Given the description of an element on the screen output the (x, y) to click on. 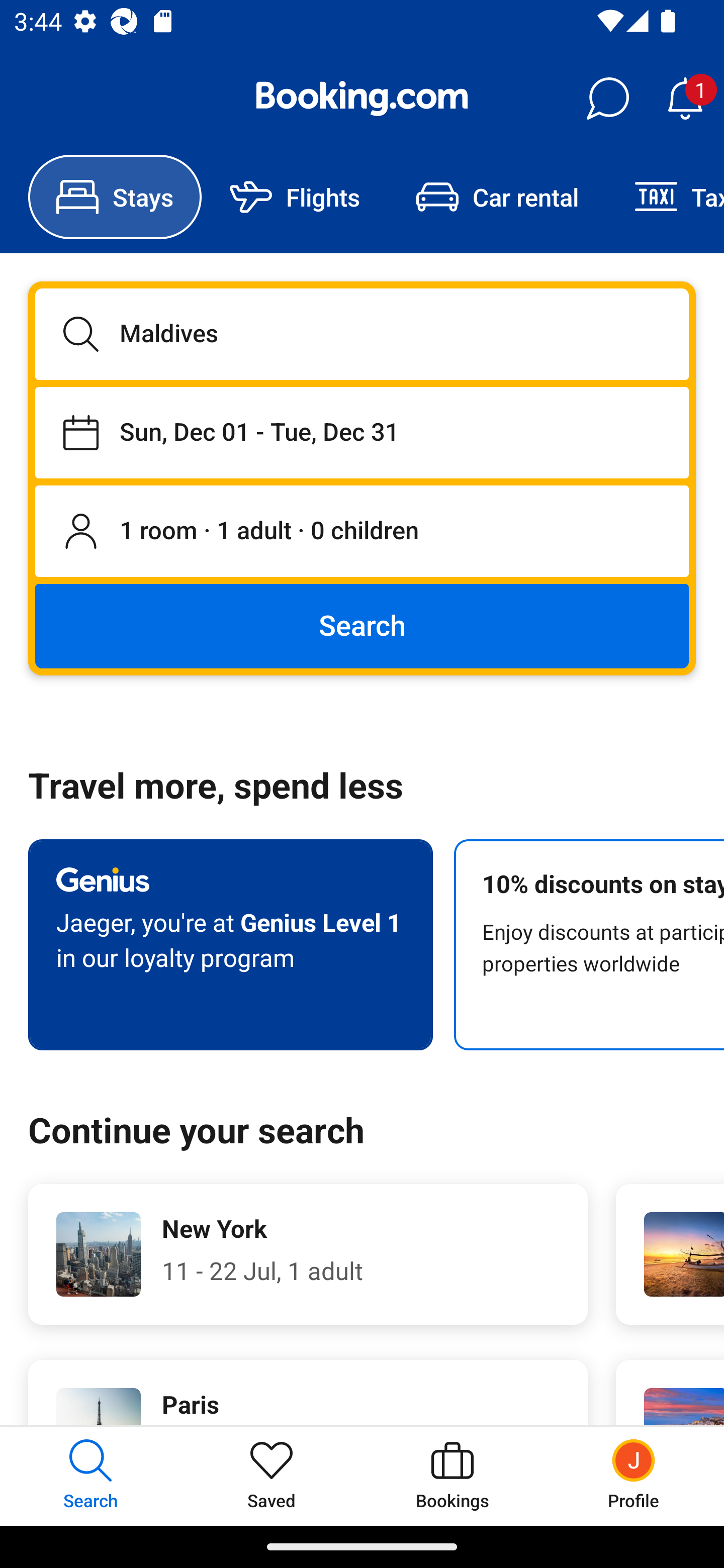
Messages (607, 98)
Notifications (685, 98)
Stays (114, 197)
Flights (294, 197)
Car rental (497, 197)
Taxi (665, 197)
Maldives (361, 333)
Staying from Sun, Dec 01 until Tue, Dec 31 (361, 432)
1 room, 1 adult, 0 children (361, 531)
Search (361, 625)
New York 11 - 22 Jul, 1 adult (307, 1253)
Saved (271, 1475)
Bookings (452, 1475)
Profile (633, 1475)
